Given the description of an element on the screen output the (x, y) to click on. 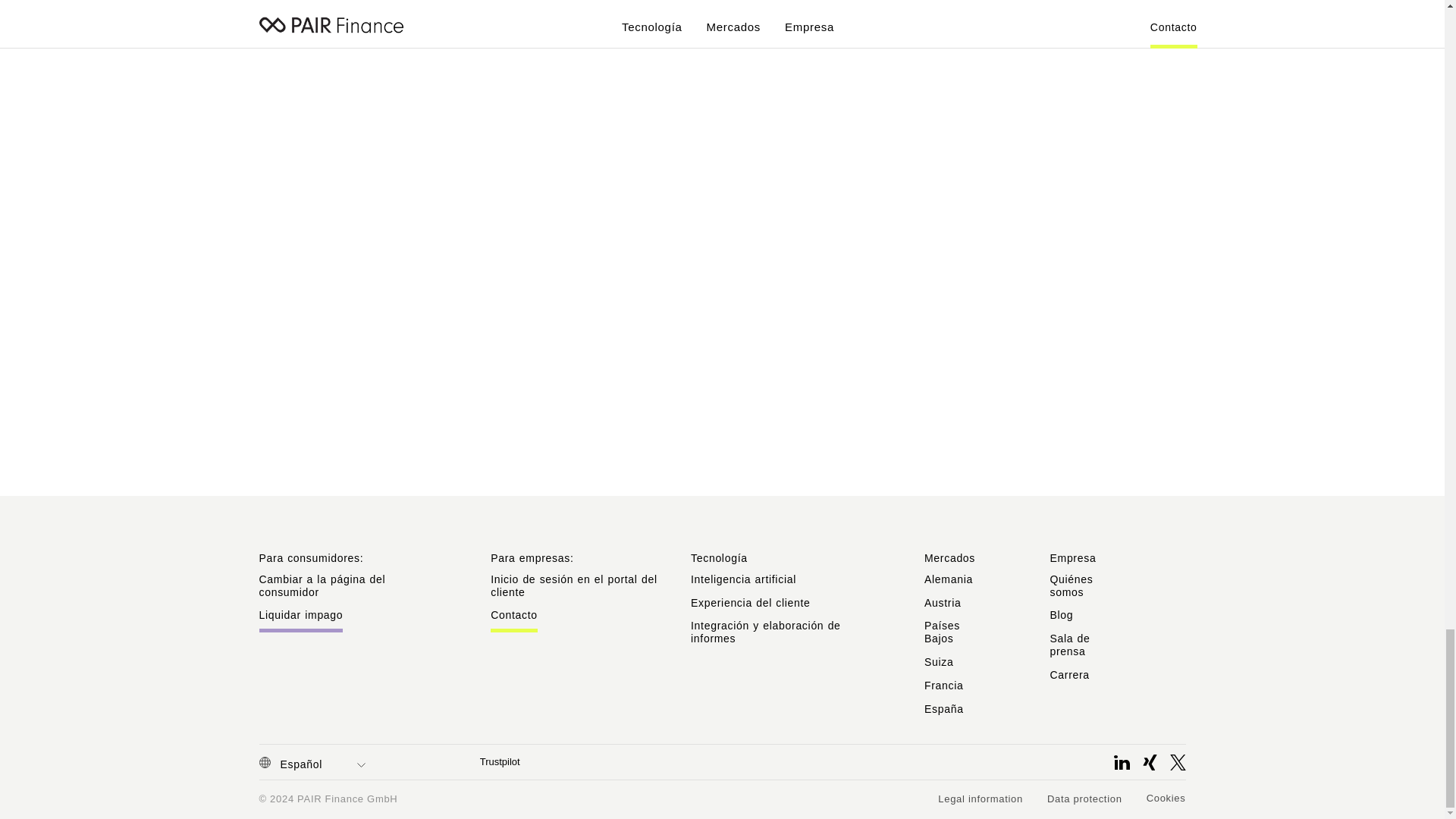
Contacto (513, 620)
Liquidar impago (301, 620)
Blog (1061, 614)
Alemania (948, 579)
Francia (943, 685)
Experiencia del cliente (750, 603)
Austria (942, 603)
Suiza (938, 662)
Carrera (1069, 674)
Inteligencia artificial (743, 579)
Sala de prensa (1069, 644)
